Given the description of an element on the screen output the (x, y) to click on. 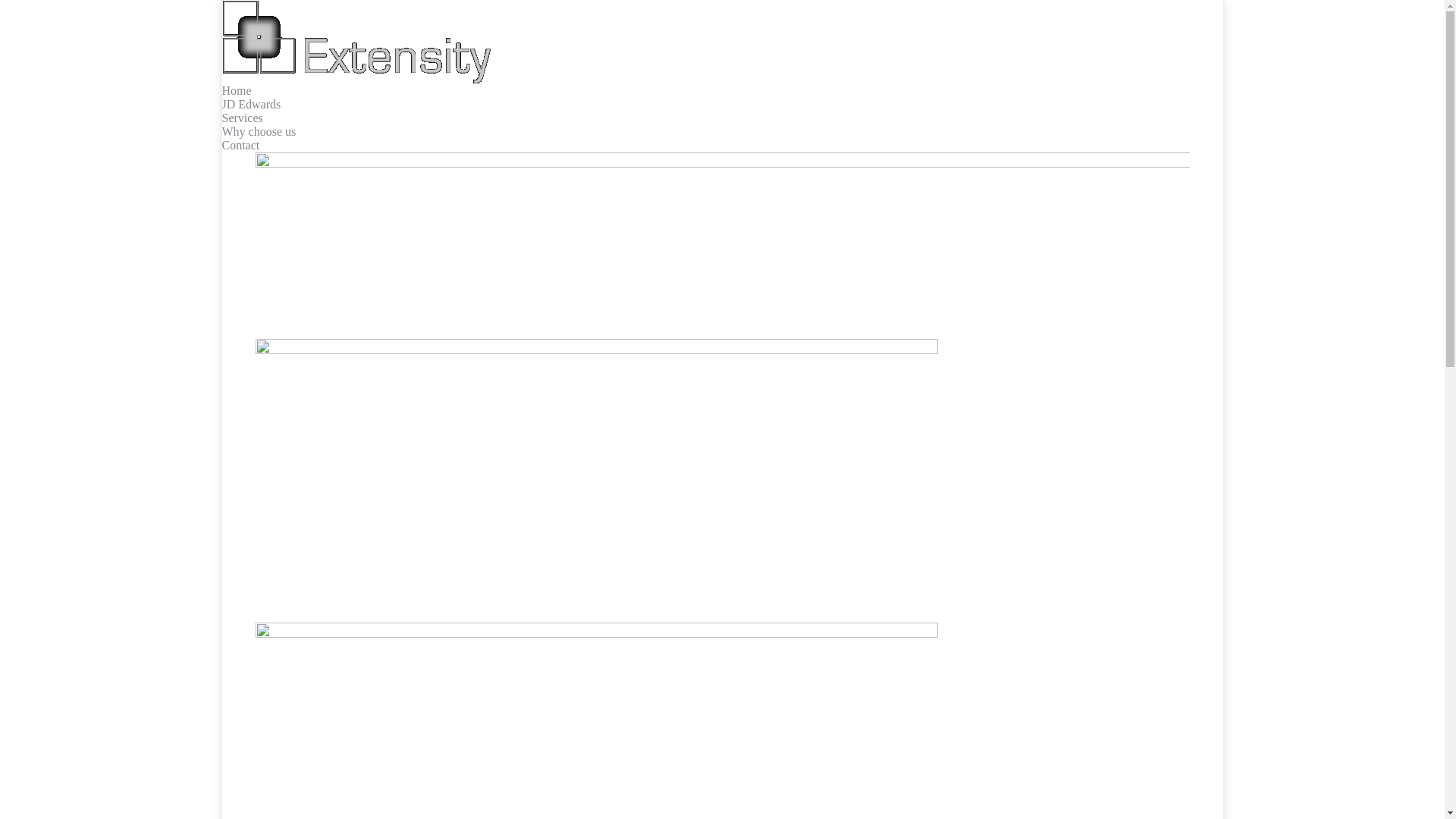
2_e0a70f72bdae9885bfc32d7cd19a26a1_p Element type: hover (595, 468)
Home Element type: text (236, 90)
JD Edwards Element type: text (250, 104)
Why choose us Element type: text (258, 131)
header-2 Element type: hover (721, 245)
Services Element type: text (241, 118)
Contact Element type: text (240, 145)
